Given the description of an element on the screen output the (x, y) to click on. 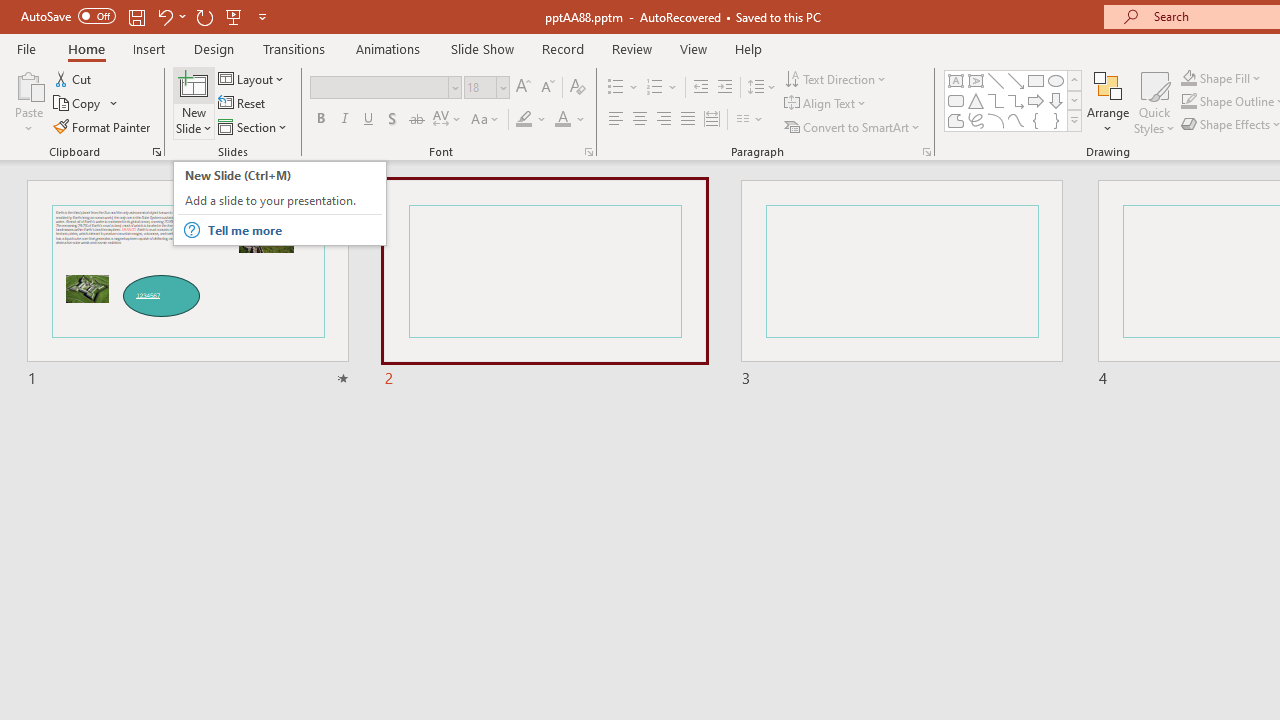
Paste (28, 84)
Design (214, 48)
Layout (252, 78)
Font... (588, 151)
Office Clipboard... (156, 151)
Bold (320, 119)
Row up (1074, 79)
Shape Fill Aqua, Accent 2 (1188, 78)
Quick Styles (1154, 102)
Tell me more (293, 230)
Arrow: Down (1055, 100)
Text Direction (836, 78)
Change Case (486, 119)
Justify (687, 119)
